Given the description of an element on the screen output the (x, y) to click on. 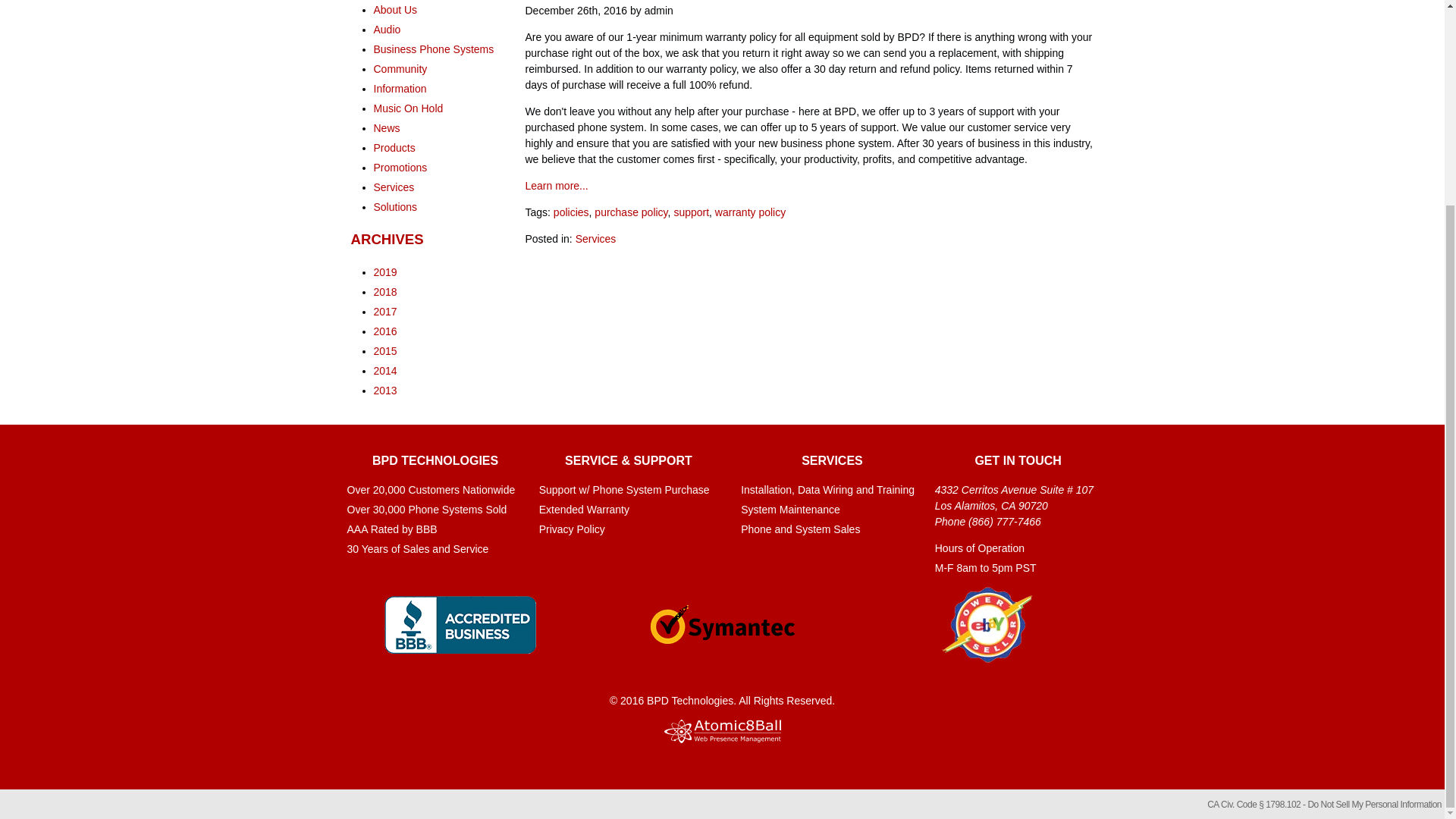
Over 30,000 Phone Systems Sold (435, 509)
News (385, 128)
Extended Warranty (627, 509)
2013 (384, 390)
2014 (384, 370)
About Us (394, 9)
Promotions (399, 167)
Solutions (394, 206)
Over 20,000 Customers Nationwide (435, 489)
2016 (384, 331)
2015 (384, 350)
Community (399, 69)
support (690, 212)
Business Phone Systems (432, 49)
Music On Hold (407, 108)
